Given the description of an element on the screen output the (x, y) to click on. 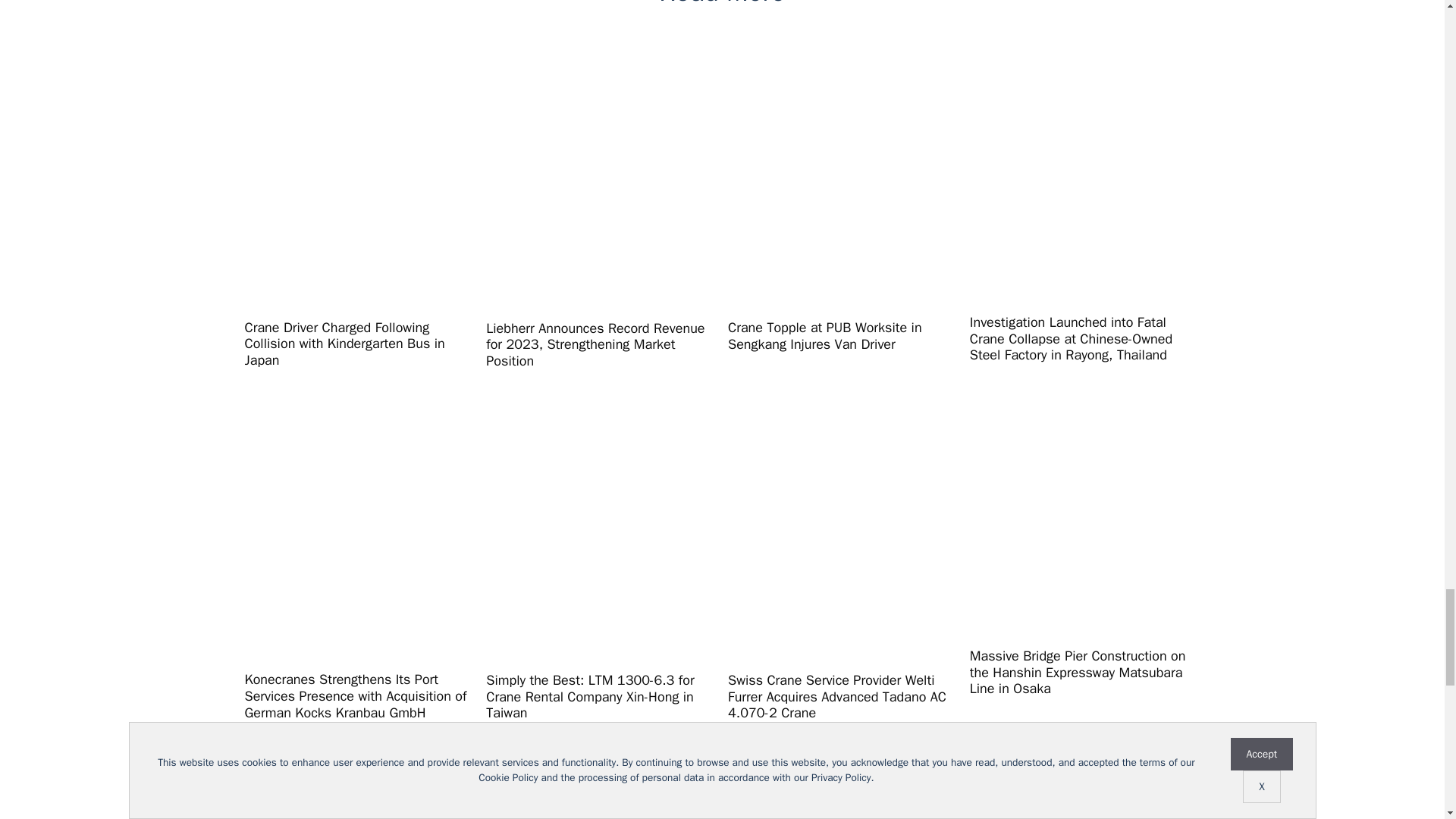
9 Top Largest Mobile Crane In The World (1084, 778)
